Given the description of an element on the screen output the (x, y) to click on. 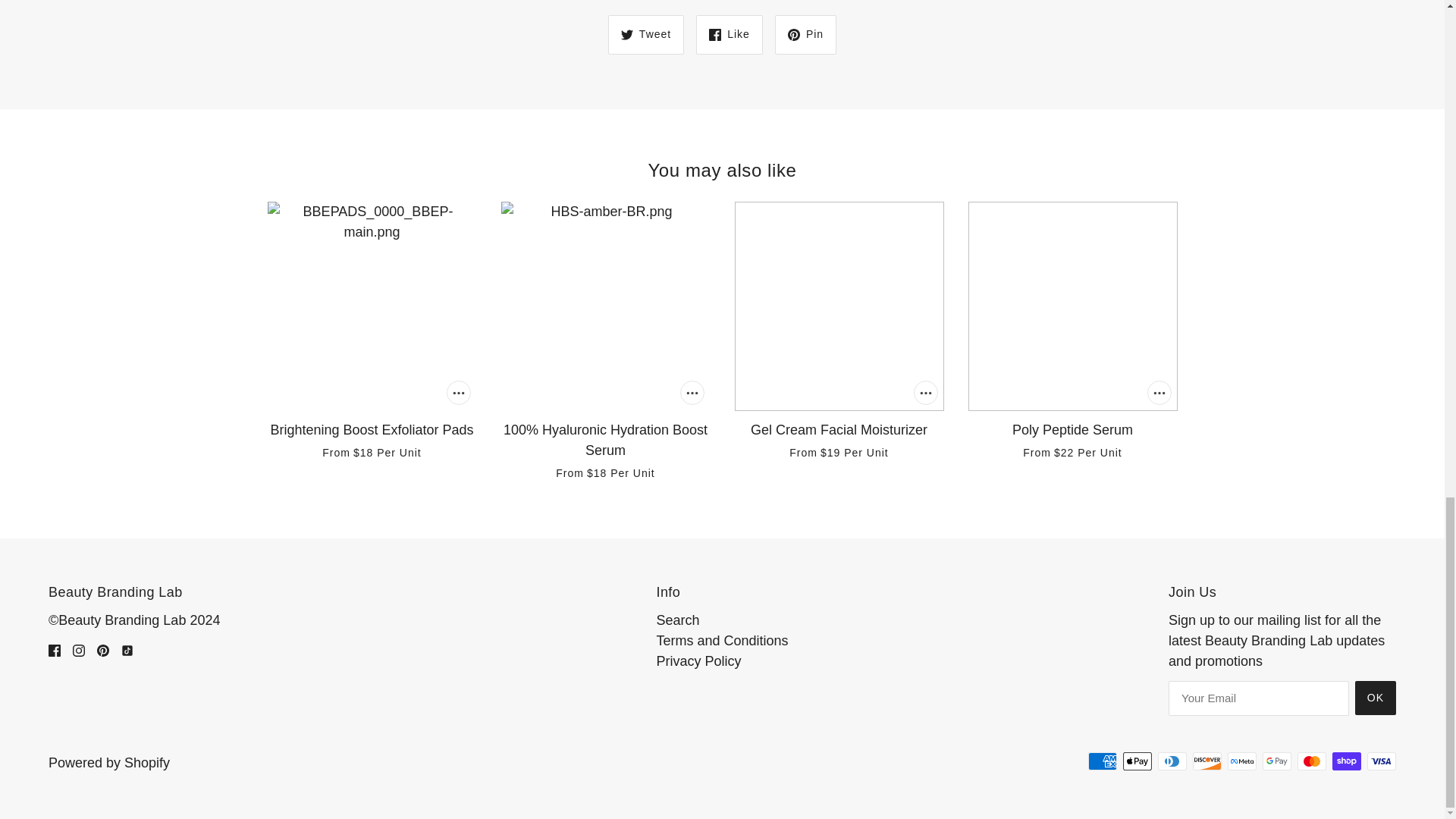
Diners Club (1171, 761)
Meta Pay (1241, 761)
Terms and Conditions (721, 640)
American Express (1101, 761)
Apple Pay (1136, 761)
Search (677, 620)
Privacy Policy (698, 661)
Discover (1206, 761)
